Given the description of an element on the screen output the (x, y) to click on. 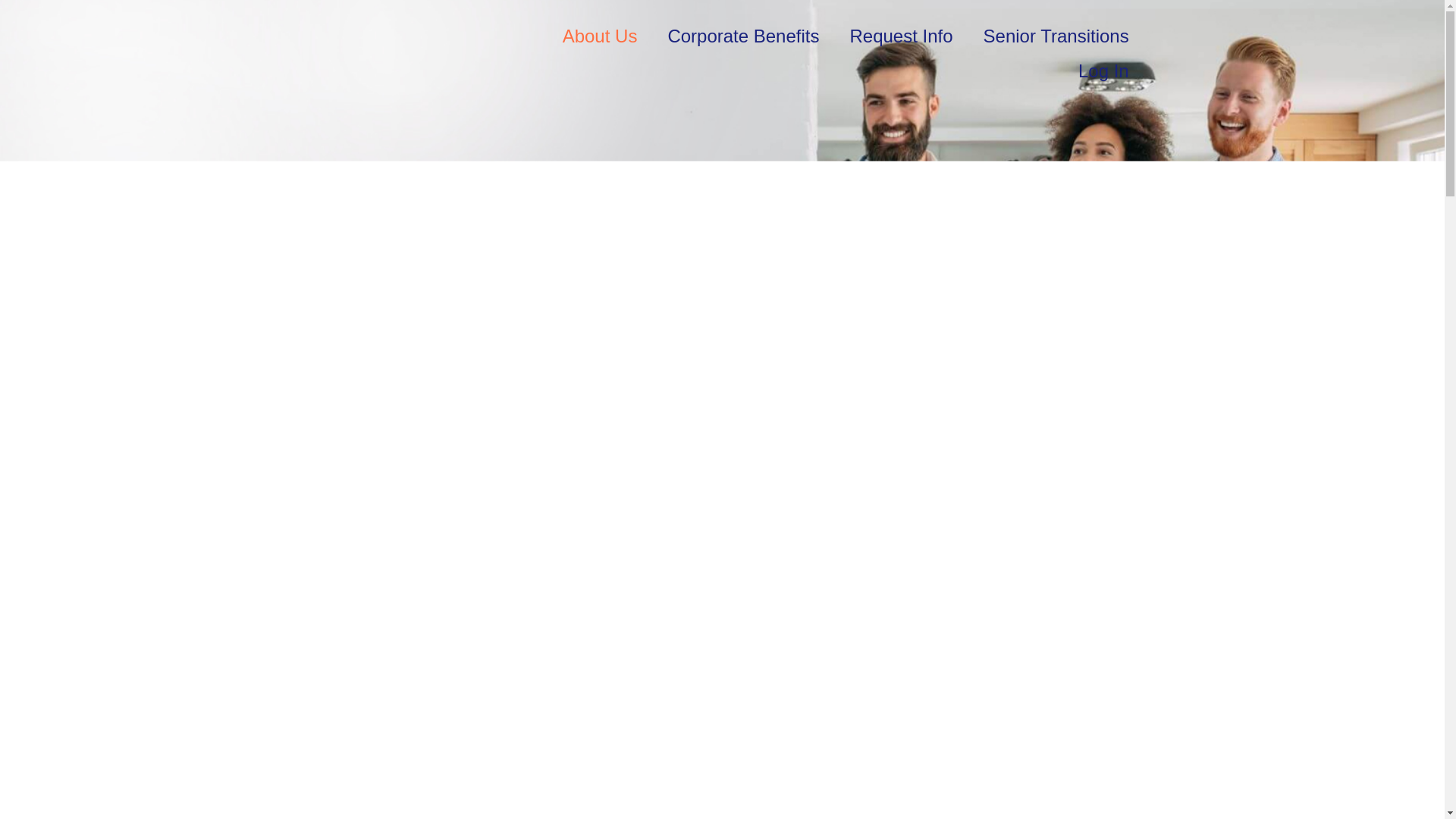
Senior Transitions (1056, 36)
About Us (599, 36)
Log In (1103, 71)
Request Info (901, 36)
Corporate Benefits (743, 36)
